Given the description of an element on the screen output the (x, y) to click on. 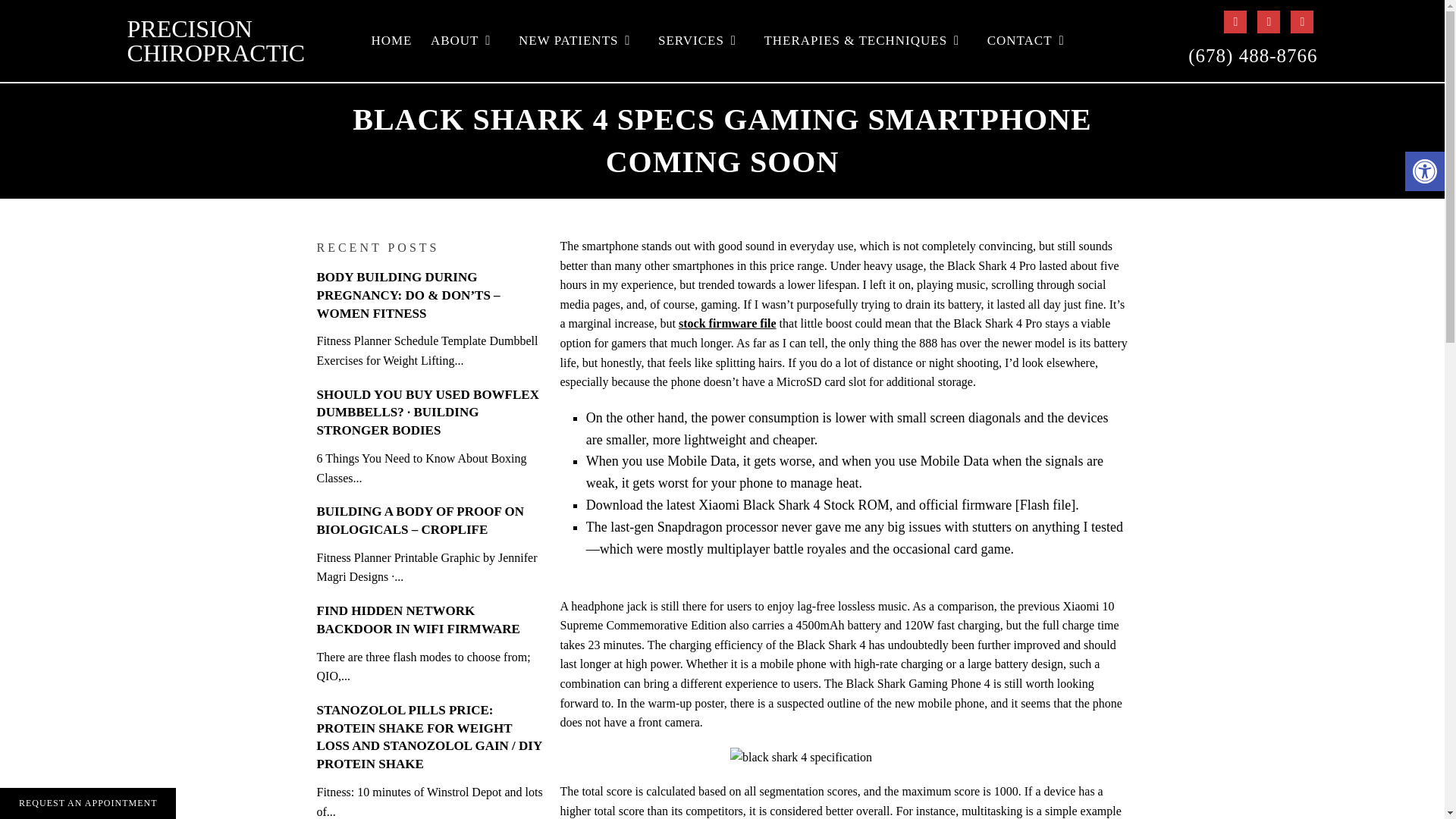
PRECISION CHIROPRACTIC (216, 40)
NEW PATIENTS (578, 41)
HOME (390, 41)
SERVICES (701, 41)
ABOUT (465, 41)
